Given the description of an element on the screen output the (x, y) to click on. 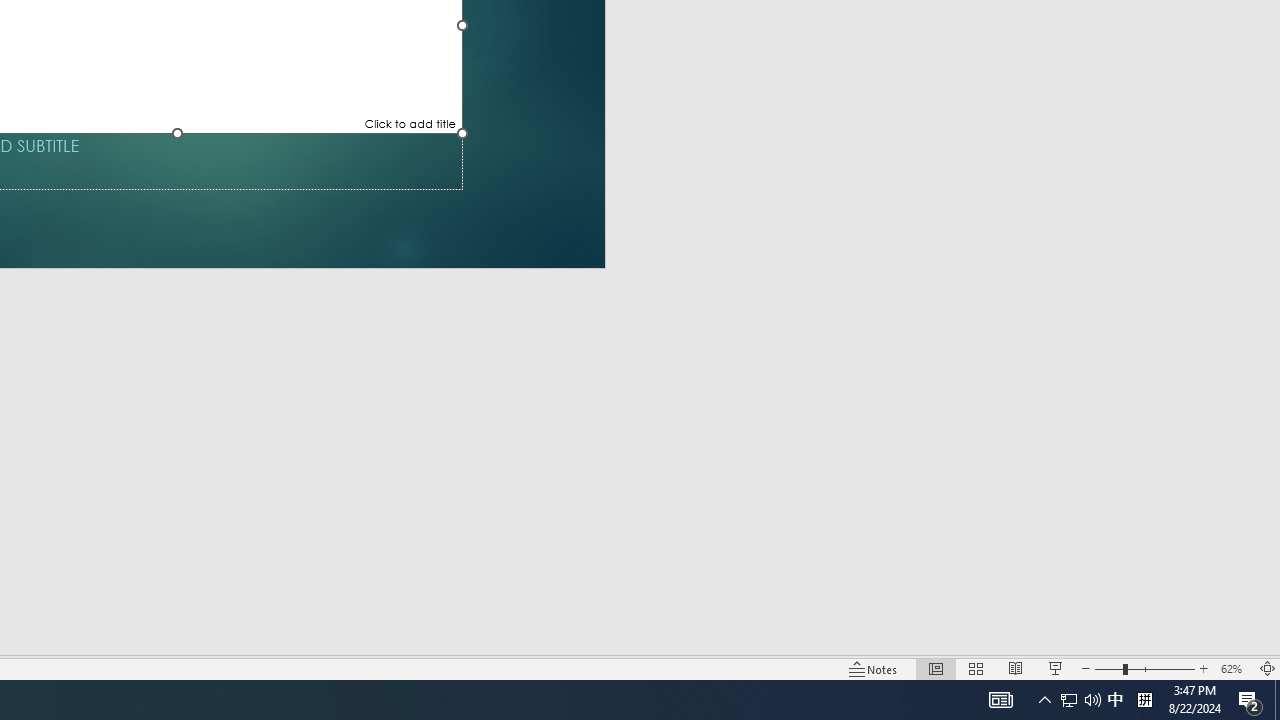
Zoom 62% (1234, 668)
